Given the description of an element on the screen output the (x, y) to click on. 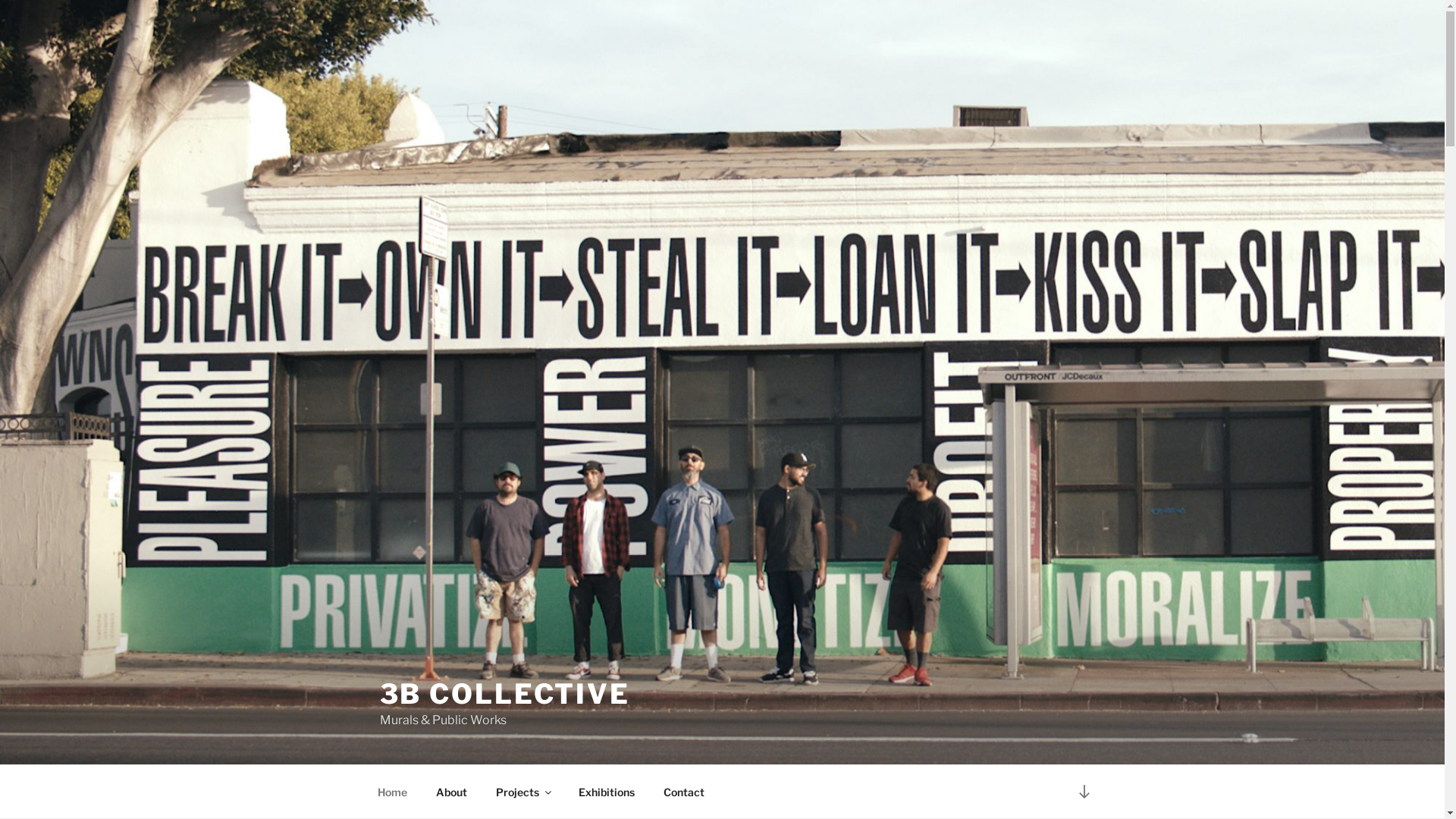
Contact Element type: text (684, 791)
Home Element type: text (392, 791)
Exhibitions Element type: text (606, 791)
Scroll down to content Element type: text (1083, 790)
About Element type: text (451, 791)
Projects Element type: text (522, 791)
3B COLLECTIVE Element type: text (504, 693)
